Given the description of an element on the screen output the (x, y) to click on. 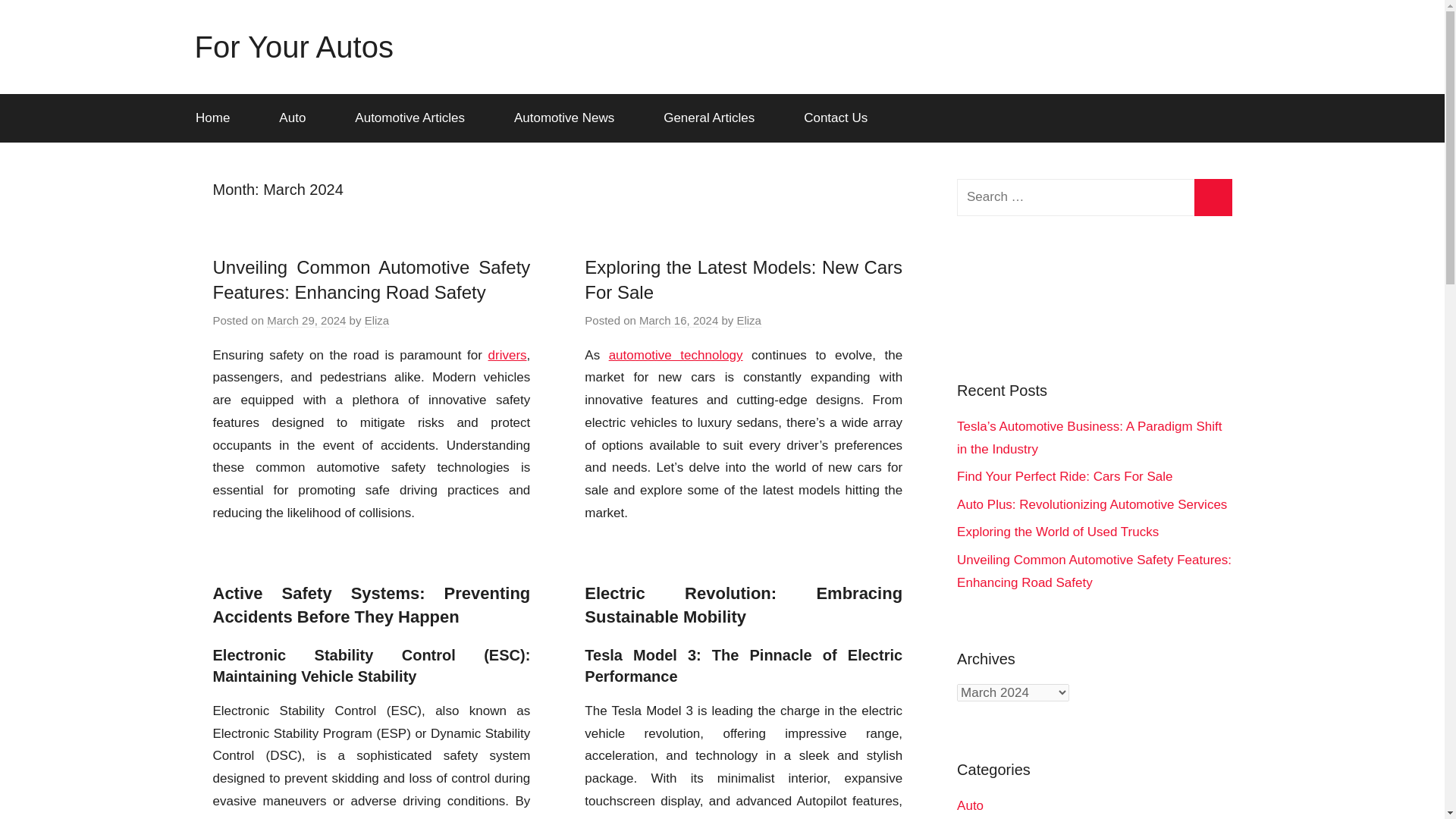
Eliza (748, 320)
Eliza (377, 320)
March 29, 2024 (306, 320)
Automotive News (569, 118)
automotive technology (675, 355)
General Articles (714, 118)
View all posts by Eliza (377, 320)
Search for: (1093, 197)
Contact Us (835, 118)
Exploring the Latest Models: New Cars For Sale (743, 280)
View all posts by Eliza (748, 320)
Search (1212, 197)
Home (217, 118)
Auto (298, 118)
